Given the description of an element on the screen output the (x, y) to click on. 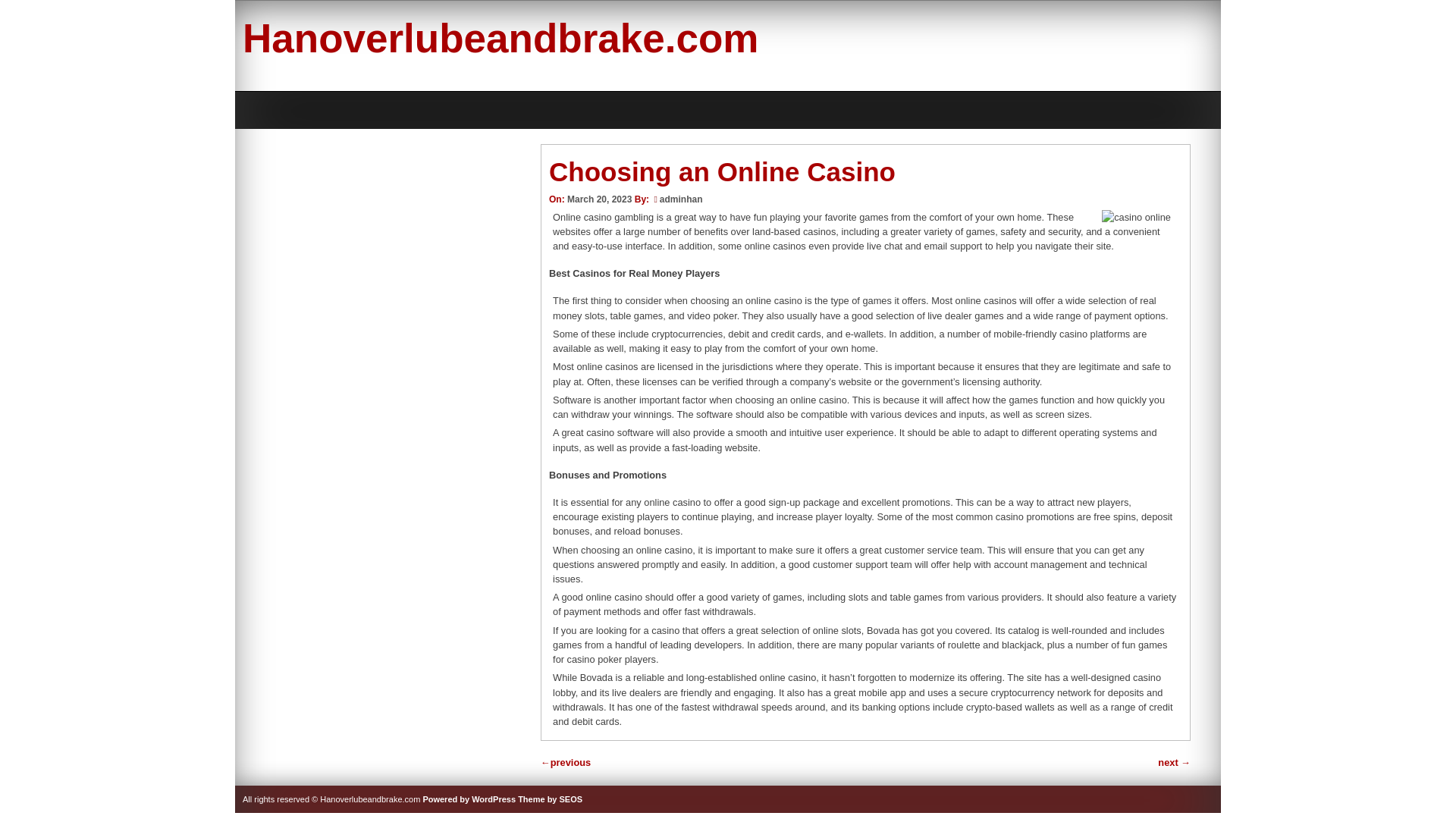
March 20, 2023 (599, 199)
Powered by WordPress (468, 798)
Seos free wordpress themes (550, 798)
Hanoverlubeandbrake.com (500, 37)
adminhan (681, 199)
Theme by SEOS (550, 798)
